Given the description of an element on the screen output the (x, y) to click on. 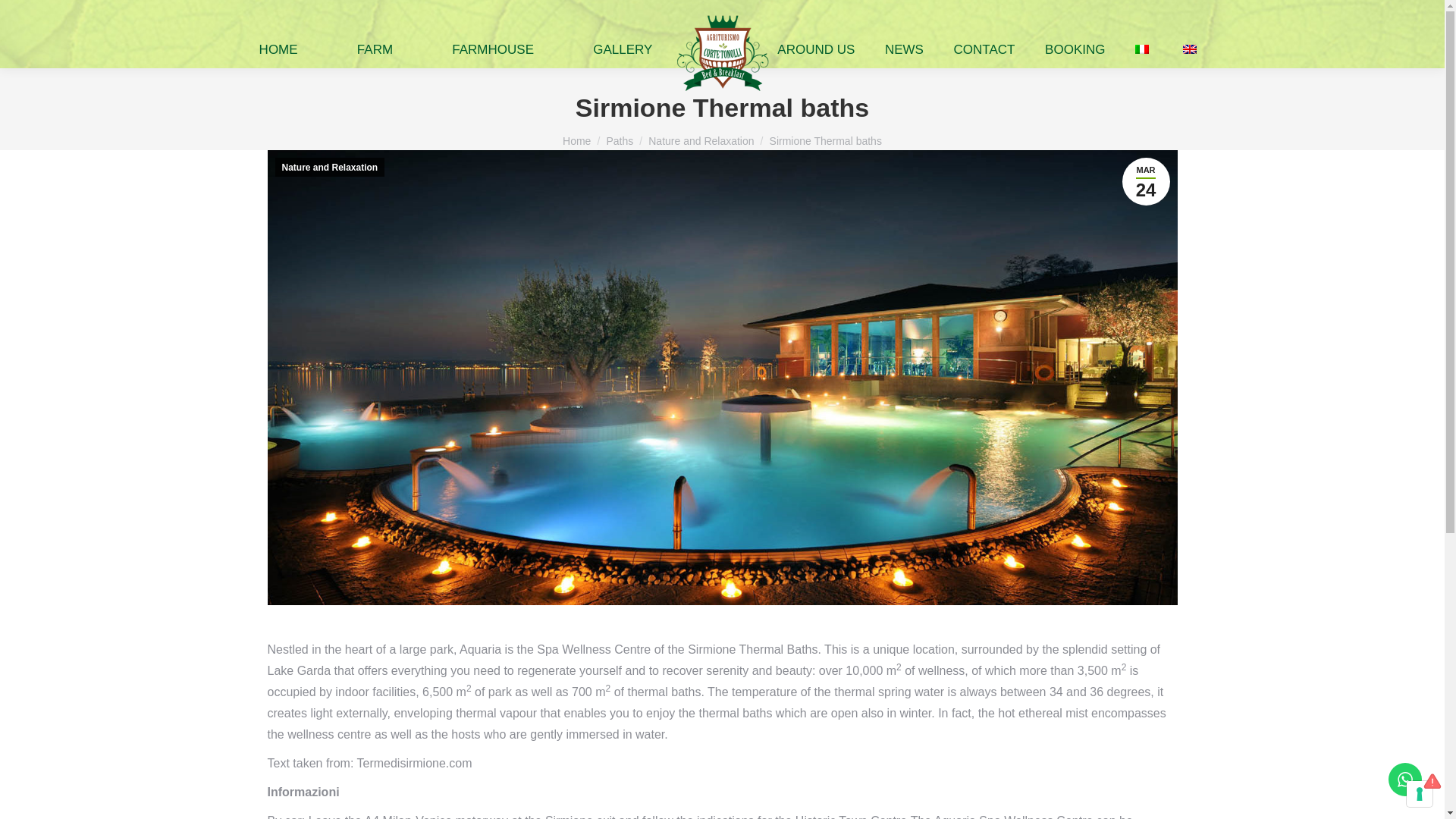
WhatsApp us (1405, 779)
Cookie Policy  (125, 754)
Nature and Relaxation (700, 141)
Home (576, 141)
FARM (374, 49)
HOME (276, 49)
FARMHOUSE (492, 49)
BOOKING (1074, 49)
GALLERY (622, 49)
12:39 pm (1146, 181)
Paths (619, 141)
CONTACT (984, 49)
Privacy Policy  (127, 732)
AROUND US (816, 49)
